Given the description of an element on the screen output the (x, y) to click on. 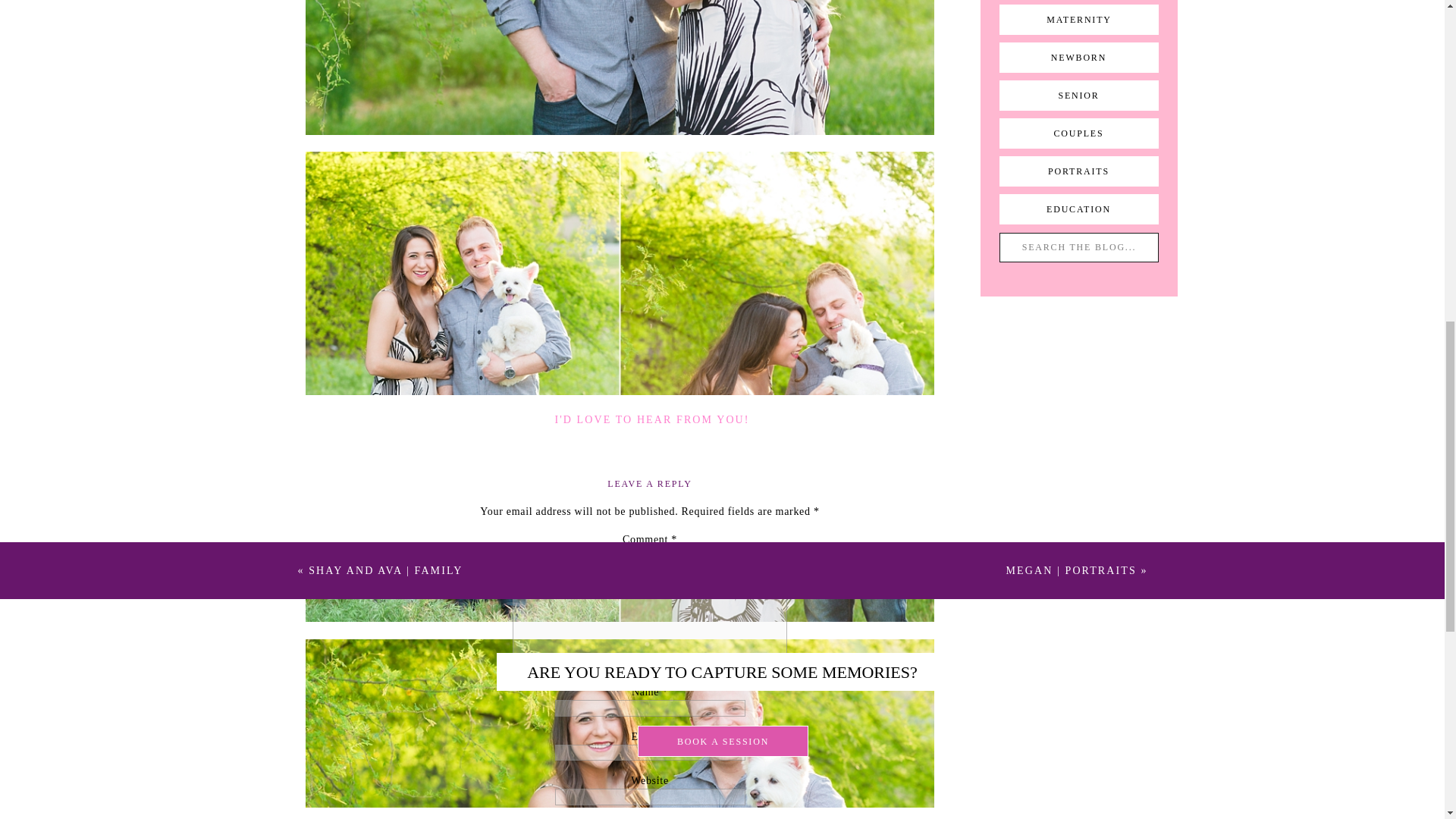
EDUCATION (1079, 209)
COUPLES (1079, 133)
SENIOR (1078, 95)
NEWBORN (1079, 57)
MATERNITY (1079, 20)
PORTRAITS (1079, 171)
